Given the description of an element on the screen output the (x, y) to click on. 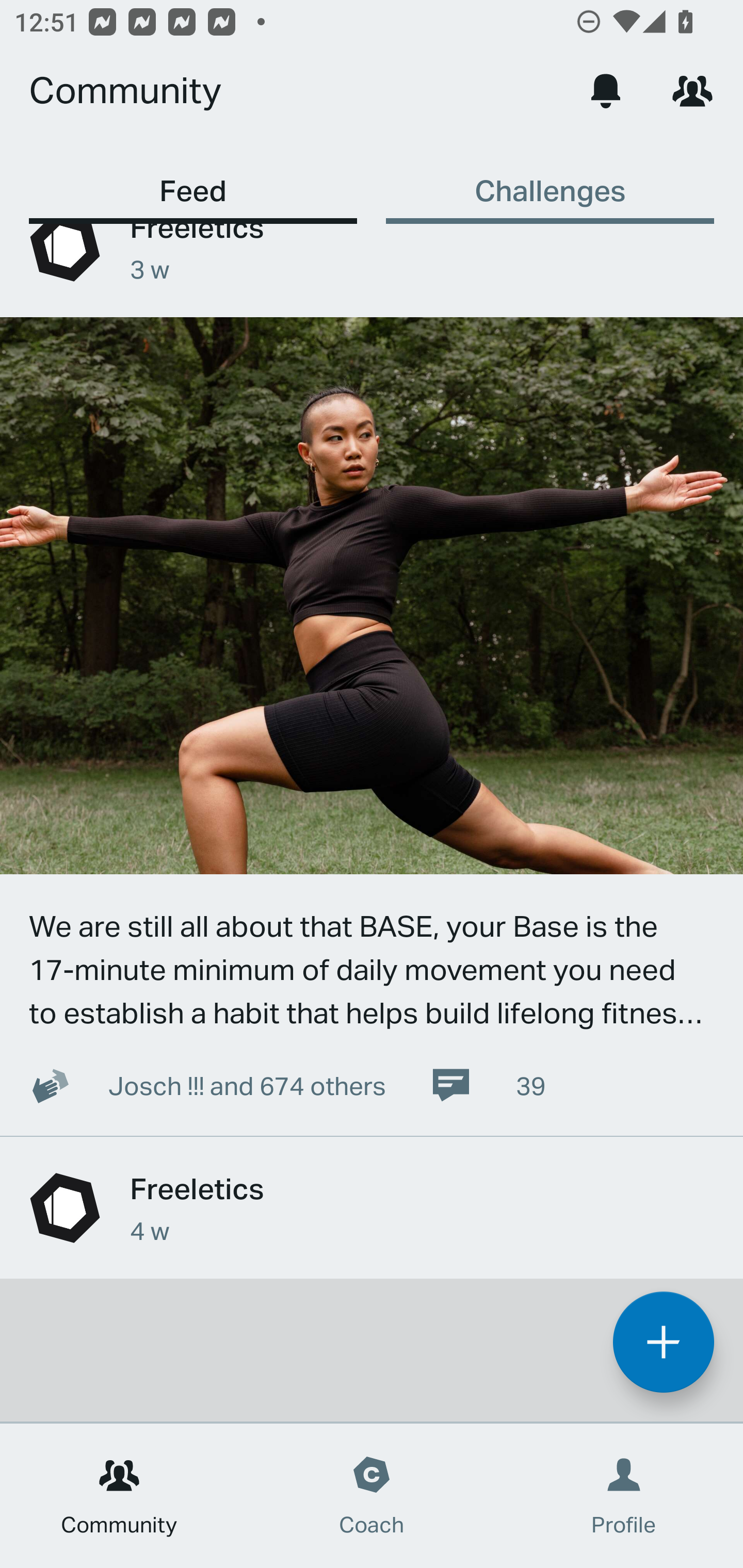
Notifications (605, 90)
Network (692, 90)
Feed (192, 180)
Challenges (549, 180)
Josch !!! and 674 others (196, 1084)
39 (487, 1084)
Coach (371, 1495)
Profile (624, 1495)
